Given the description of an element on the screen output the (x, y) to click on. 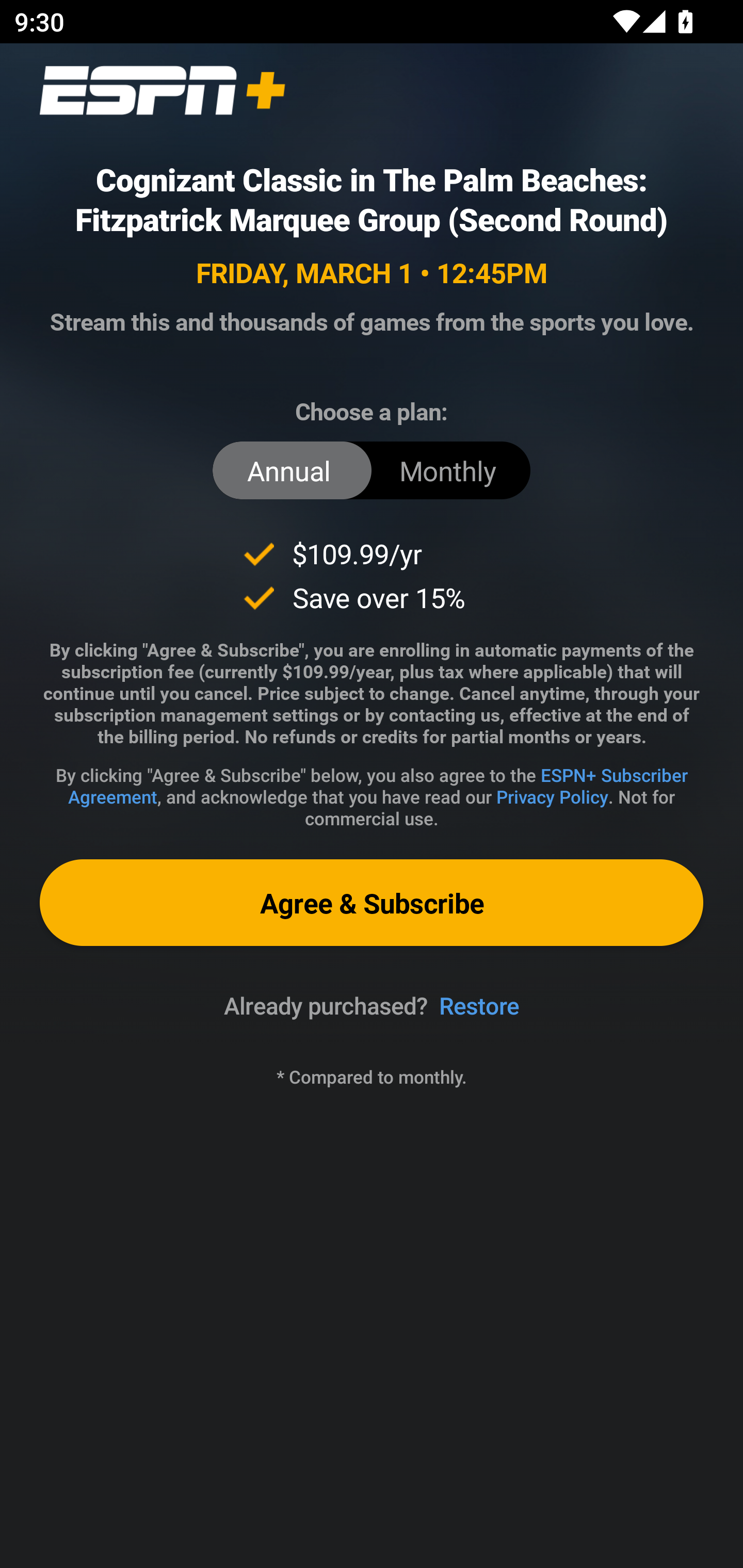
Agree & Subscribe (371, 902)
